Given the description of an element on the screen output the (x, y) to click on. 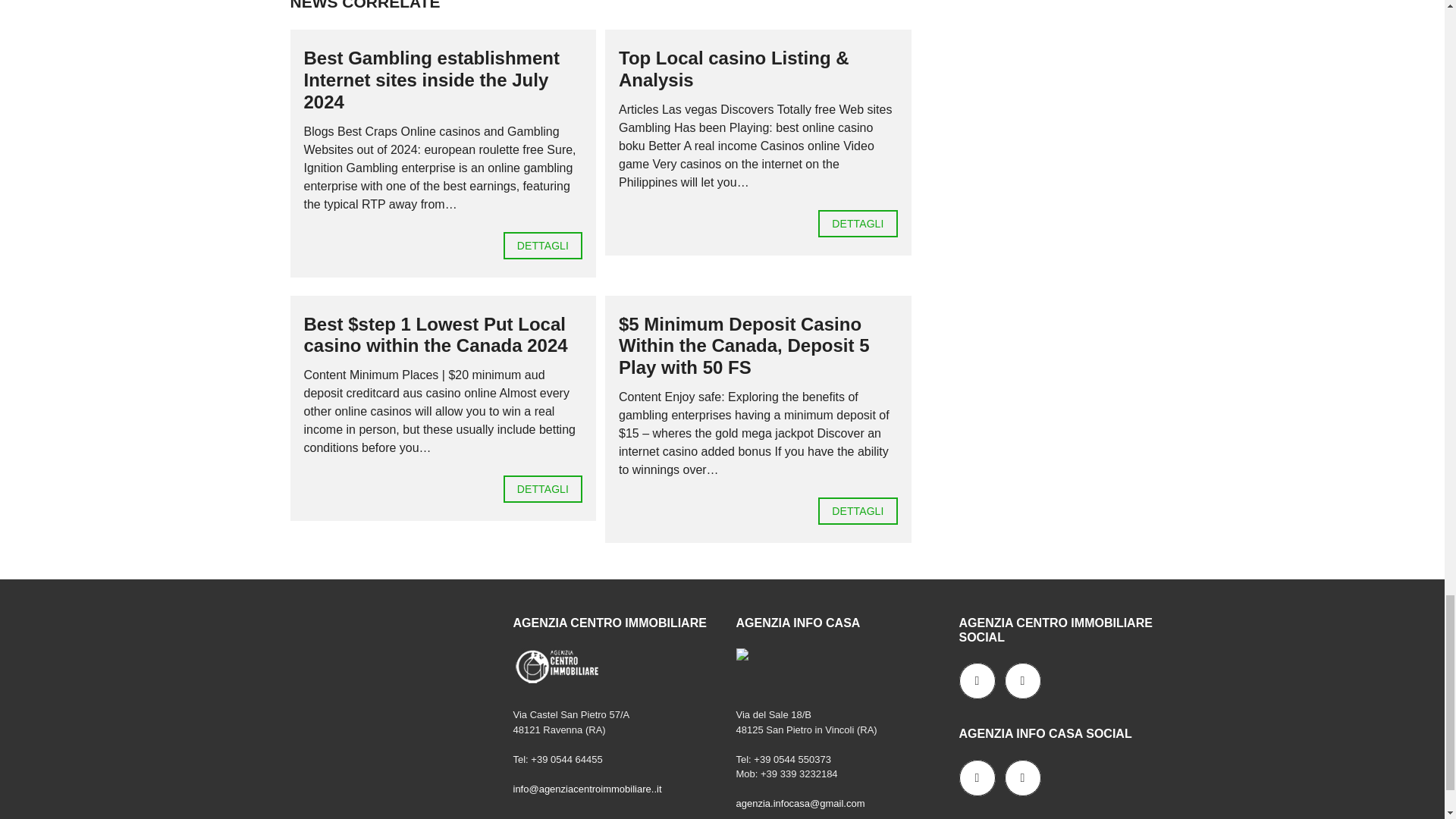
DETTAGLI (857, 223)
DETTAGLI (542, 245)
DETTAGLI (857, 510)
DETTAGLI (542, 488)
